Given the description of an element on the screen output the (x, y) to click on. 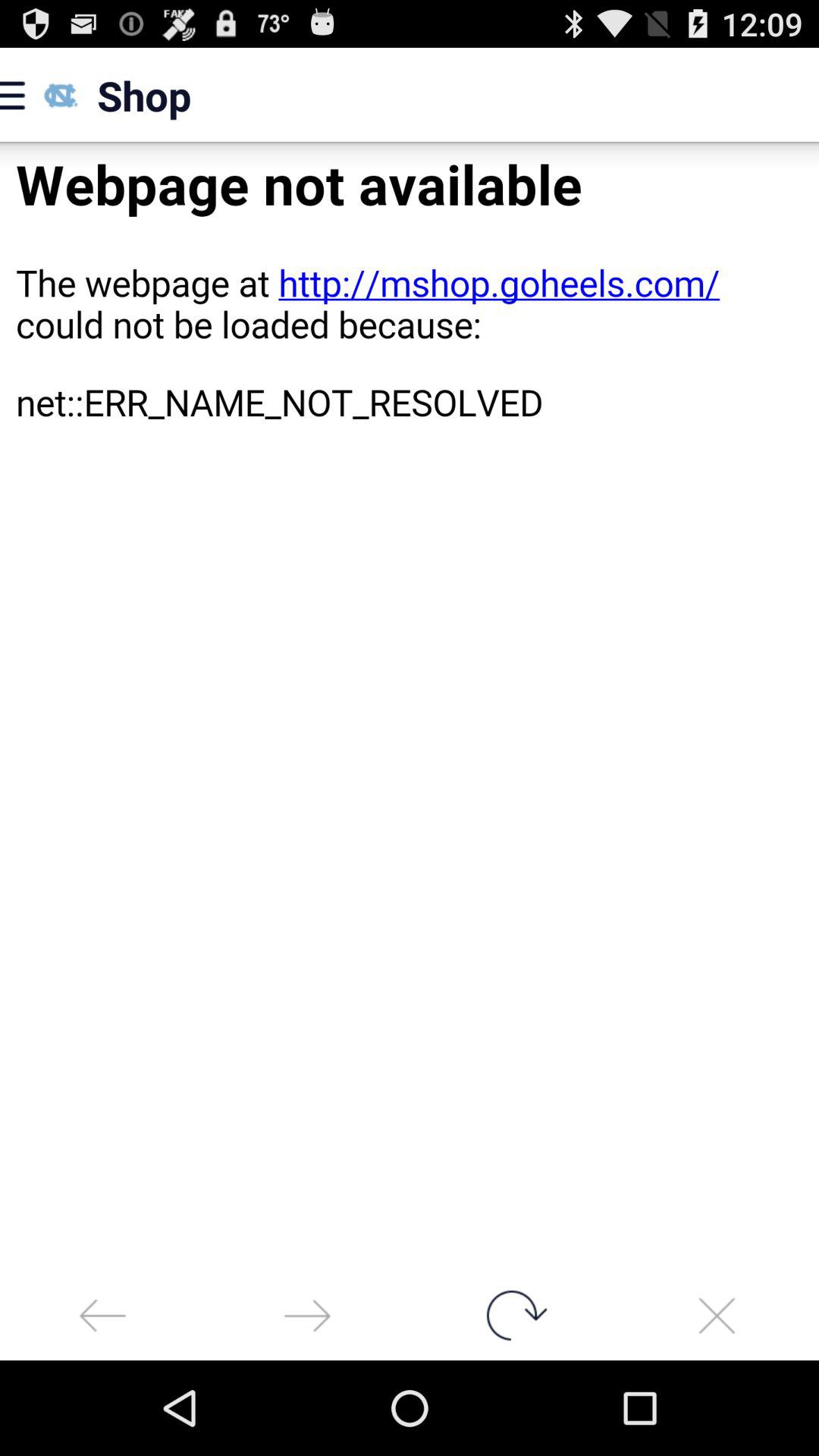
go to back (102, 1315)
